Given the description of an element on the screen output the (x, y) to click on. 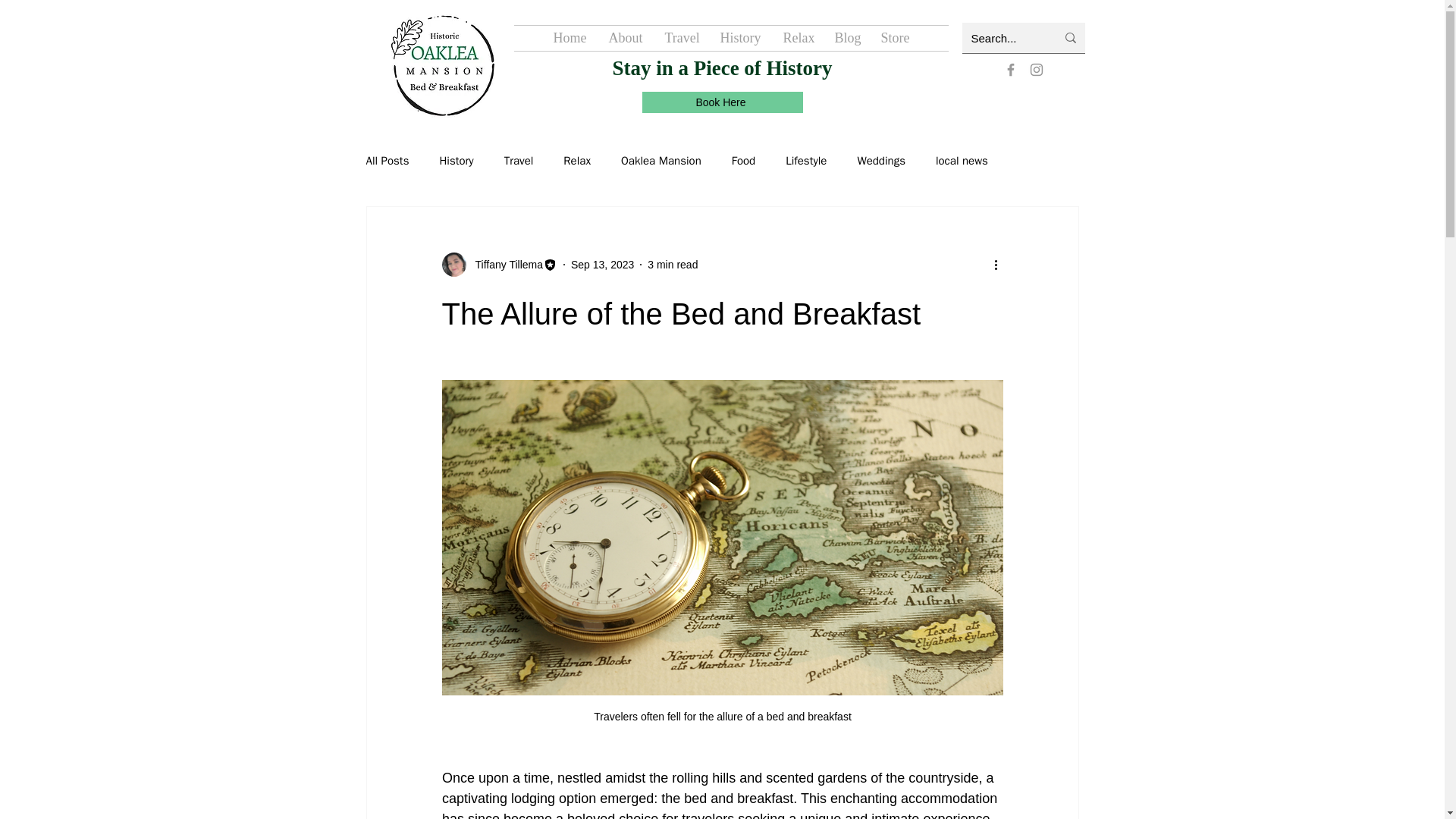
Blog (846, 37)
Relax (577, 160)
Oaklea Mansion (661, 160)
Lifestyle (806, 160)
Book Here (722, 102)
History (739, 37)
Travel (518, 160)
Food (743, 160)
Weddings (881, 160)
Store (894, 37)
Home (568, 37)
3 min read (672, 263)
Tiffany Tillema (503, 263)
Sep 13, 2023 (601, 263)
Tiffany Tillema (498, 264)
